Given the description of an element on the screen output the (x, y) to click on. 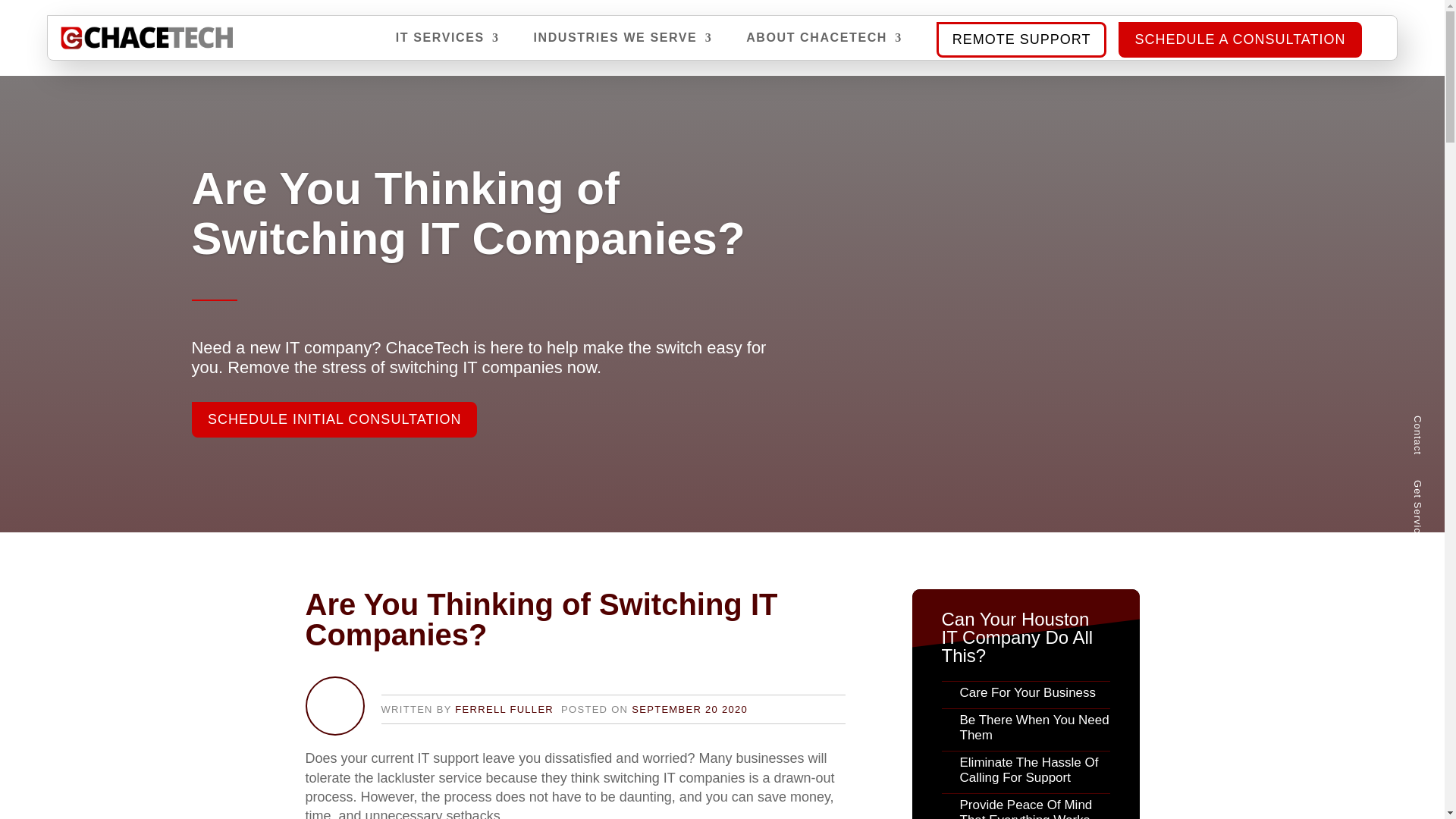
SCHEDULE INITIAL CONSULTATION (333, 441)
REMOTE SUPPORT (1021, 39)
IT SERVICES (447, 45)
ABOUT CHACETECH (823, 45)
SCHEDULE A CONSULTATION (1239, 39)
INDUSTRIES WE SERVE (621, 45)
